Given the description of an element on the screen output the (x, y) to click on. 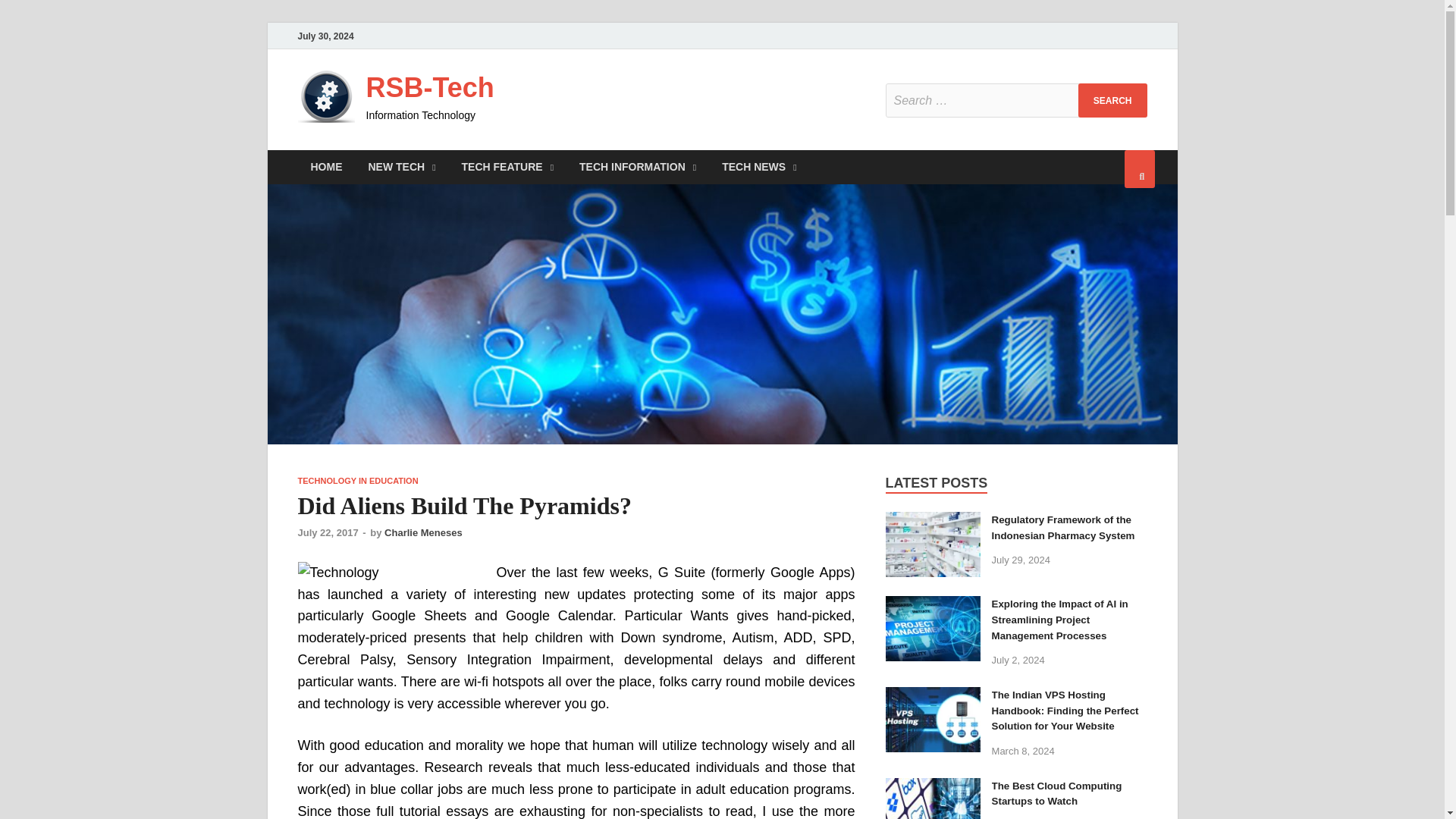
Search (1112, 100)
Search (1112, 100)
TECH FEATURE (507, 166)
TECH INFORMATION (637, 166)
NEW TECH (401, 166)
Regulatory Framework of the Indonesian Pharmacy System (932, 521)
TECH NEWS (759, 166)
HOME (326, 166)
RSB-Tech (429, 87)
The Best Cloud Computing Startups to Watch (932, 787)
Search (1112, 100)
